Given the description of an element on the screen output the (x, y) to click on. 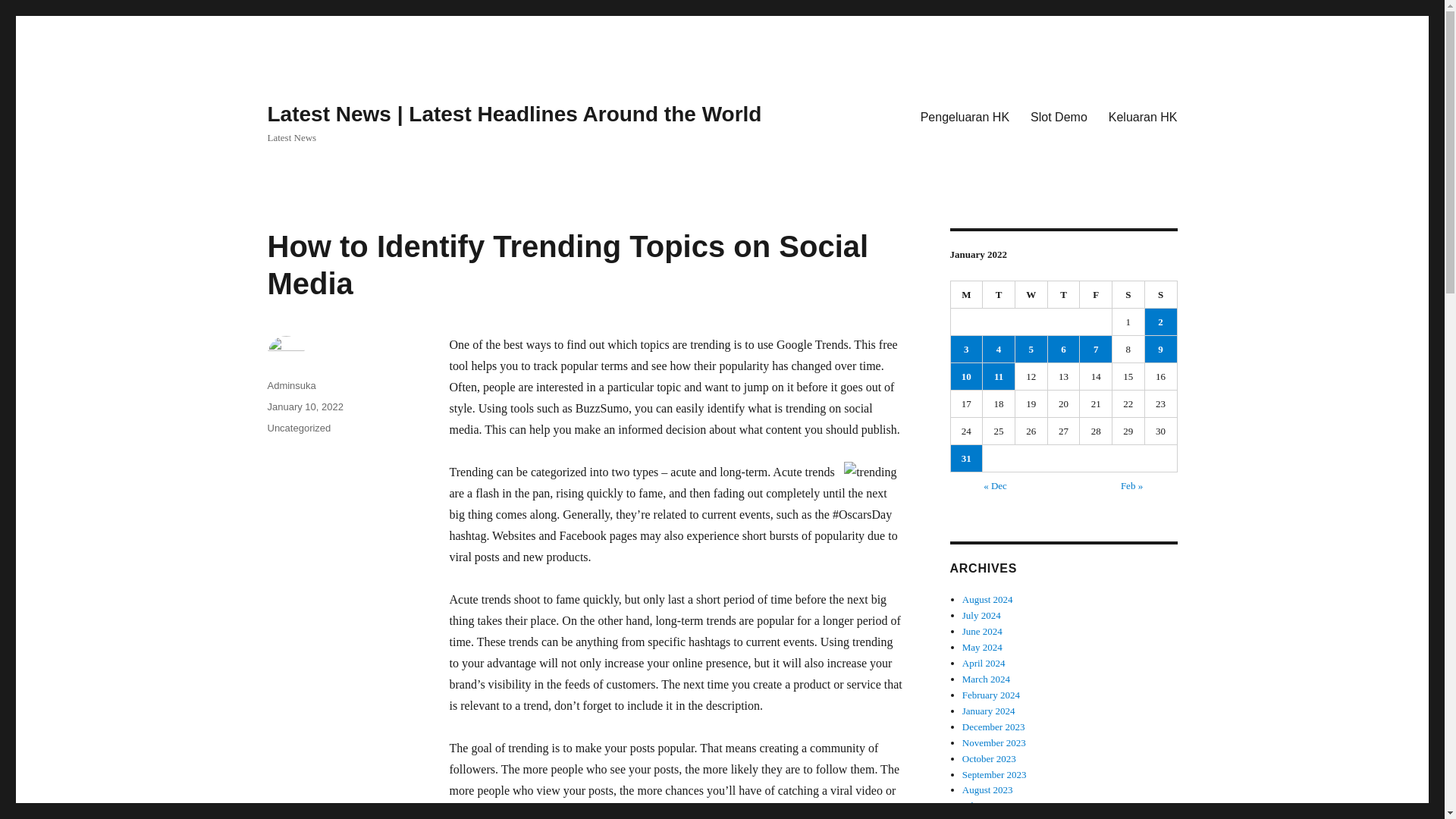
October 2023 (989, 758)
Slot Demo (1058, 116)
10 (966, 376)
March 2024 (986, 678)
7 (1096, 348)
February 2024 (991, 695)
Keluaran HK (1142, 116)
June 2023 (982, 817)
Thursday (1064, 294)
Wednesday (1031, 294)
